Given the description of an element on the screen output the (x, y) to click on. 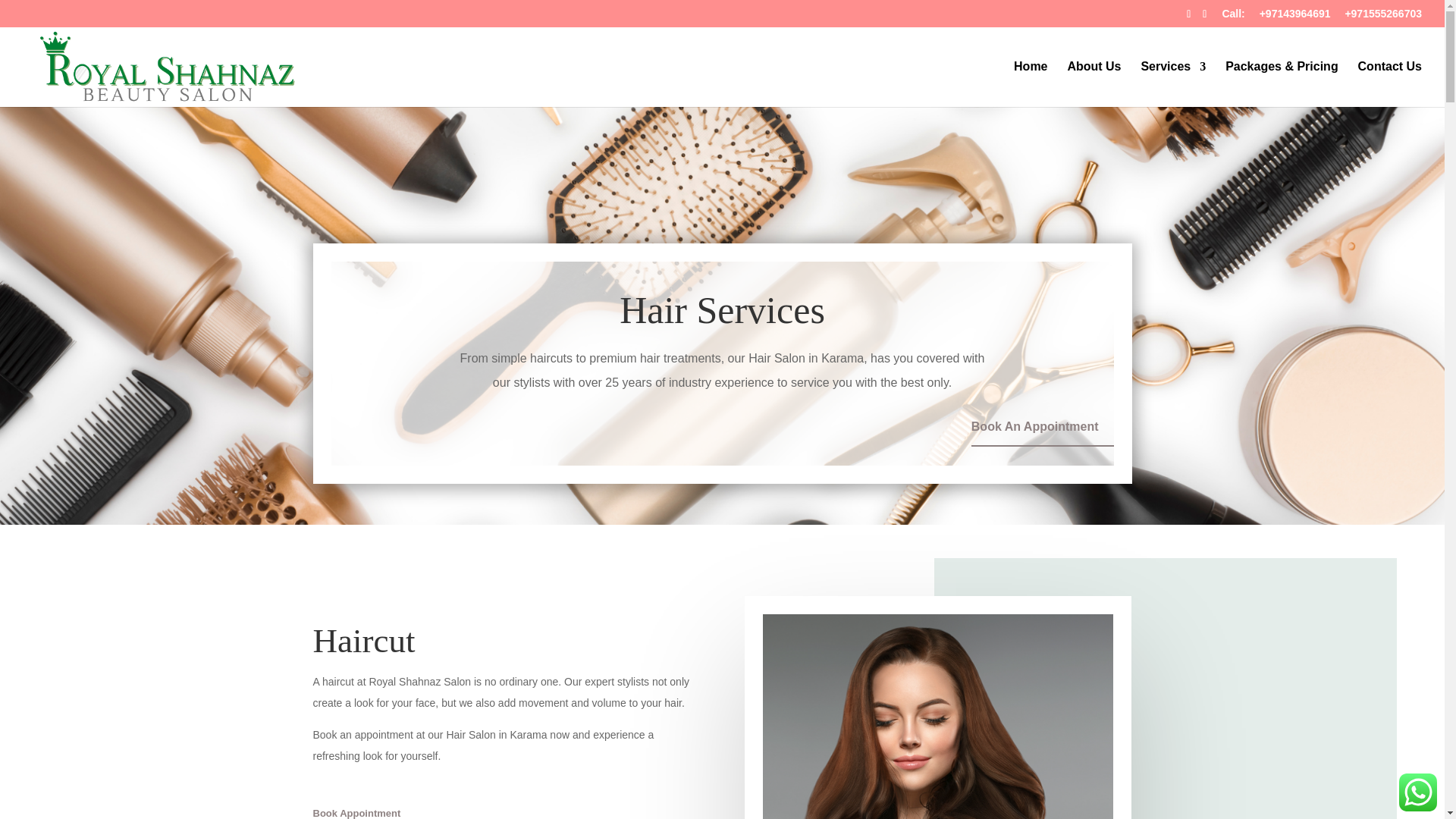
Book Appointment (363, 812)
Haircut (937, 716)
About Us (1094, 84)
Book An Appointment (1042, 430)
Services (1172, 84)
Call: (1232, 16)
WhatsApp us (1418, 792)
Contact Us (1390, 84)
